Given the description of an element on the screen output the (x, y) to click on. 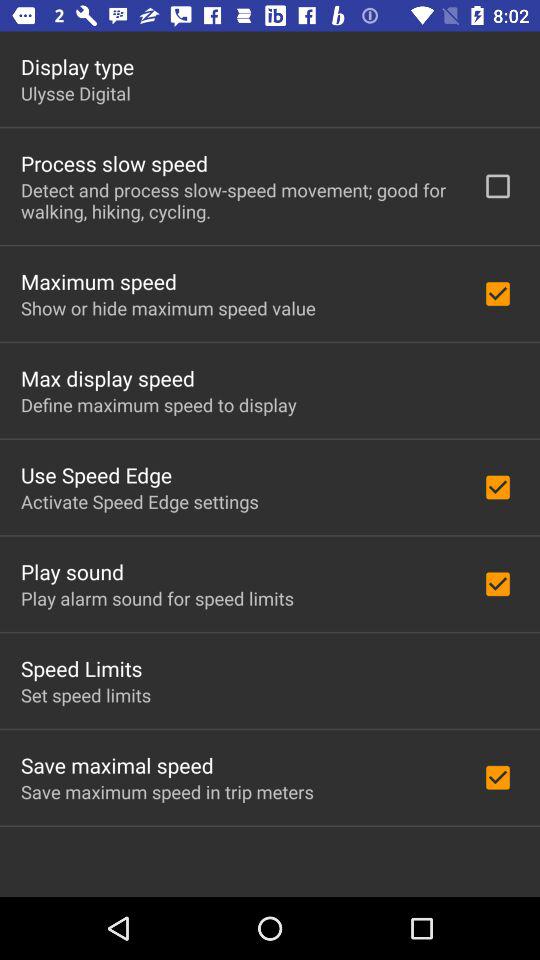
turn on the app below process slow speed app (238, 200)
